Given the description of an element on the screen output the (x, y) to click on. 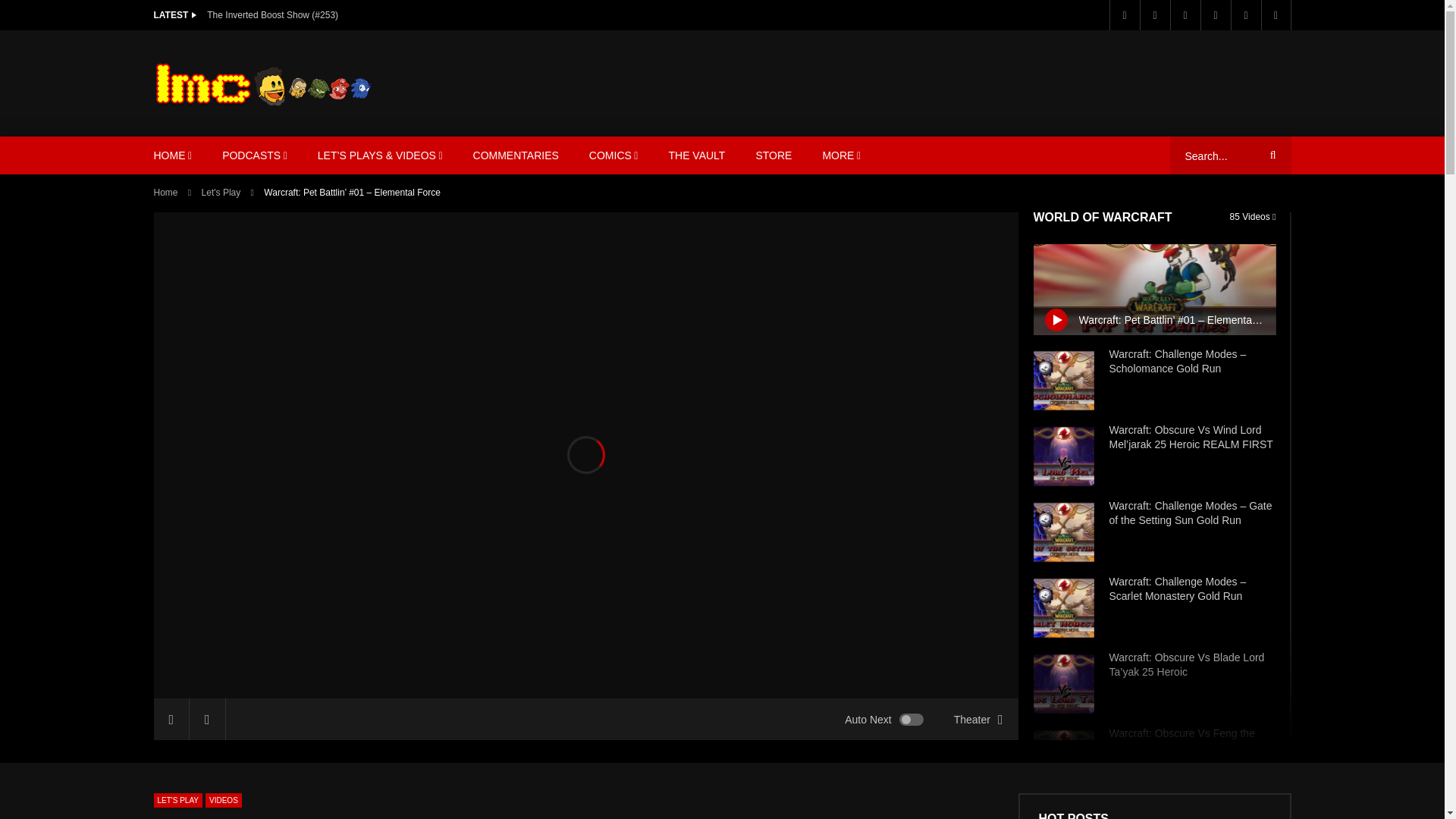
Twitch (1275, 15)
Advertisement (1014, 79)
Discord (1245, 15)
PODCASTS (254, 155)
Twitter (1153, 15)
Last Minute Continue (262, 82)
Instagram (1214, 15)
Youtube (1184, 15)
HOME (172, 155)
Facebook (1123, 15)
